Given the description of an element on the screen output the (x, y) to click on. 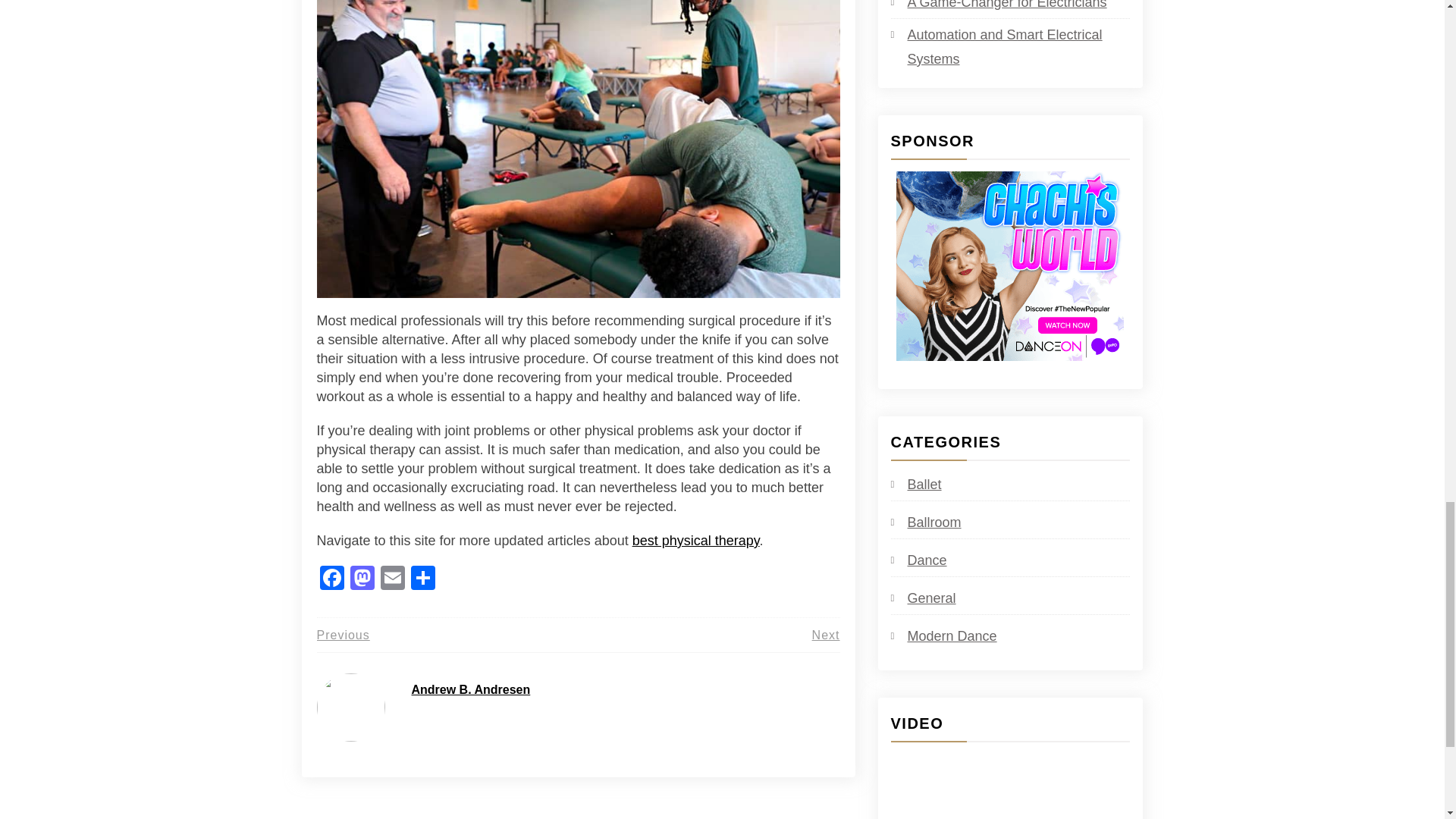
Facebook (332, 579)
Next (826, 634)
Email (392, 579)
Share (422, 579)
Andrew B. Andresen (469, 689)
Mastodon (362, 579)
Previous (343, 634)
Email (392, 579)
Facebook (332, 579)
Posts by Andrew B. Andresen (469, 689)
best physical therapy (695, 540)
Mastodon (362, 579)
